Given the description of an element on the screen output the (x, y) to click on. 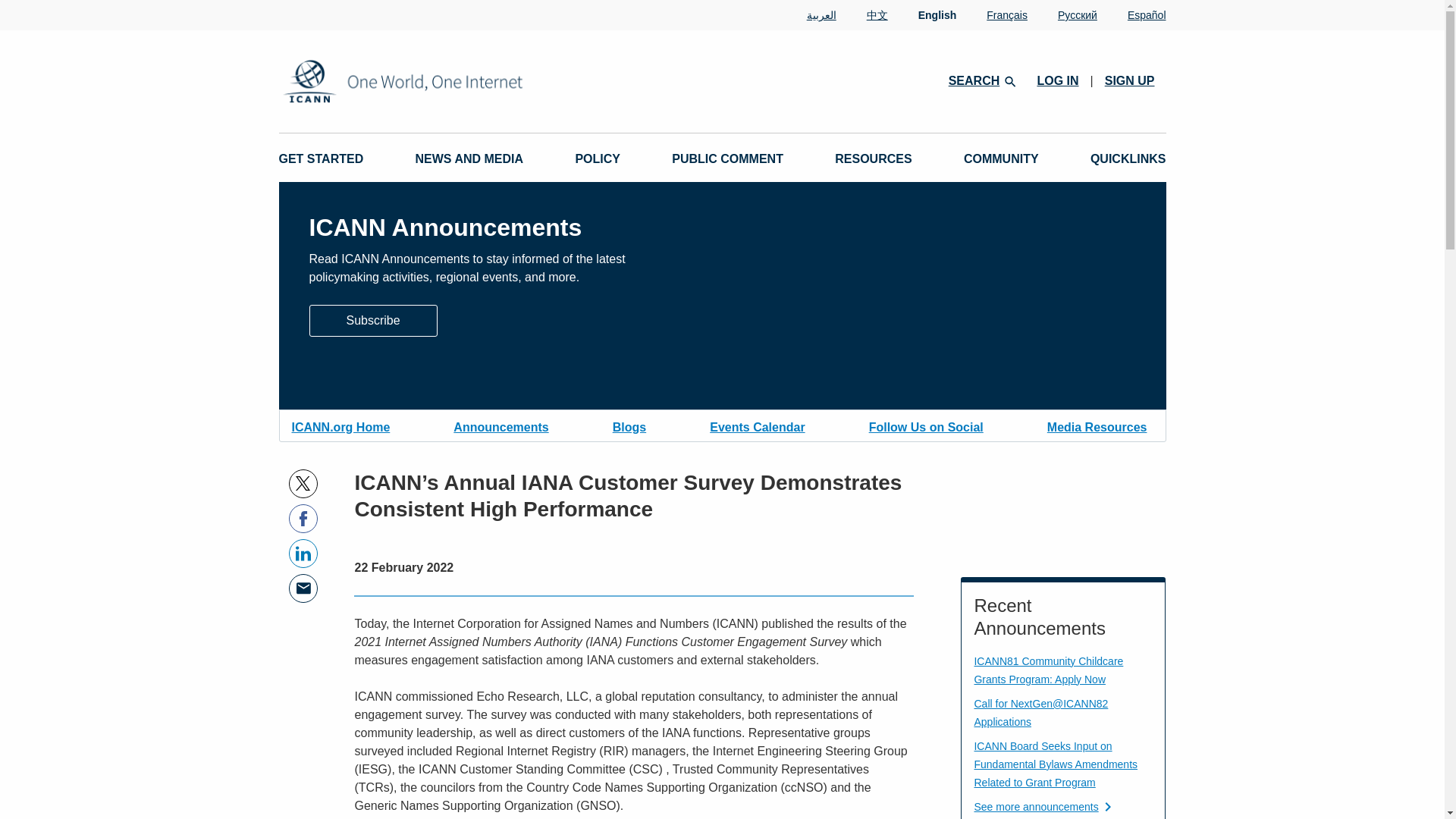
SIGN UP (1129, 80)
Events Calendar (757, 425)
GET STARTED (321, 158)
Subscribe (373, 320)
Subscribe (373, 318)
SEARCH (981, 79)
NEWS AND MEDIA (469, 158)
Follow Us on Social (926, 425)
QUICKLINKS (1128, 158)
PUBLIC COMMENT (727, 158)
